Given the description of an element on the screen output the (x, y) to click on. 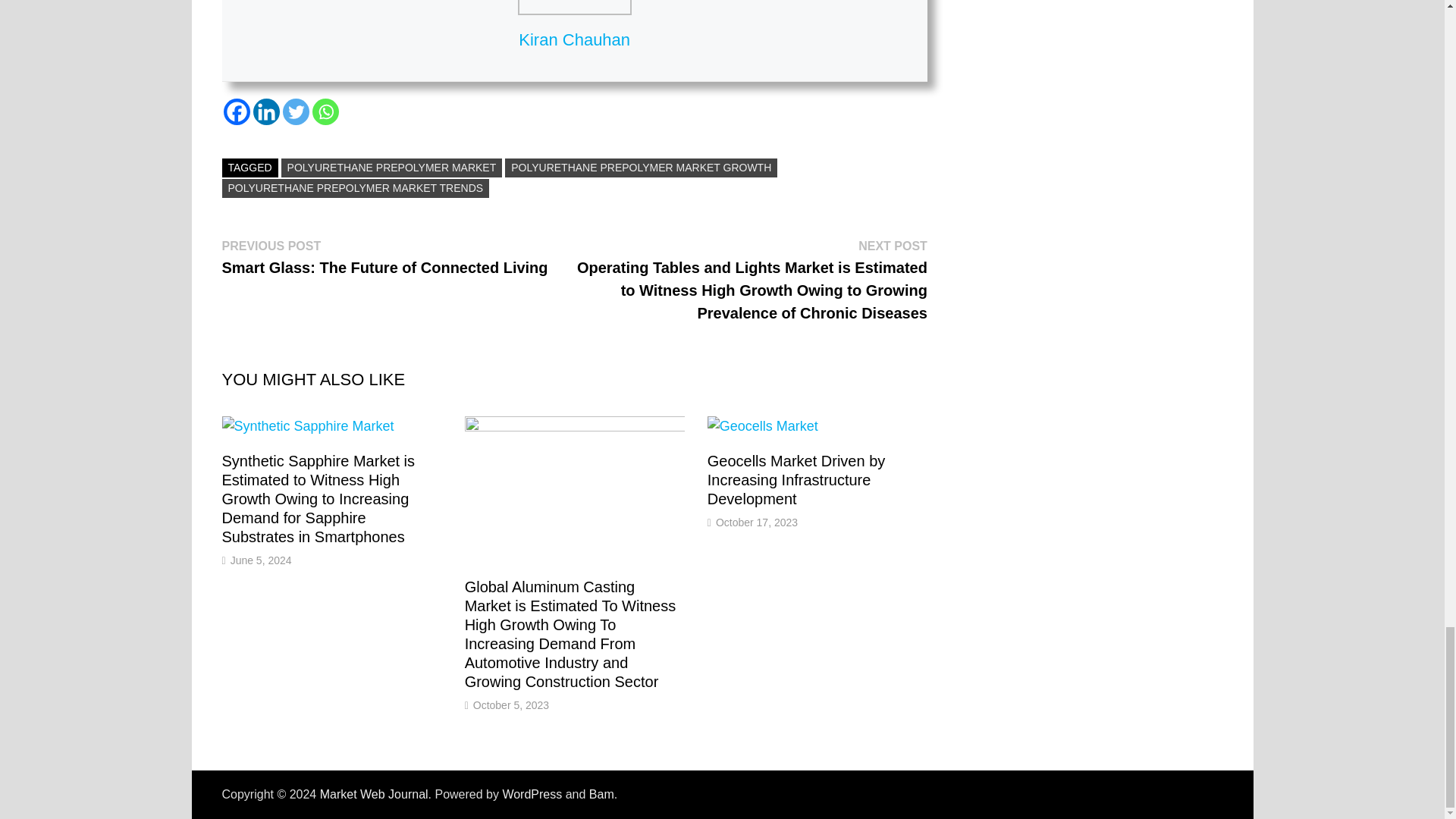
Whatsapp (326, 111)
Linkedin (266, 111)
Facebook (235, 111)
Twitter (295, 111)
Market Web Journal (374, 793)
